Given the description of an element on the screen output the (x, y) to click on. 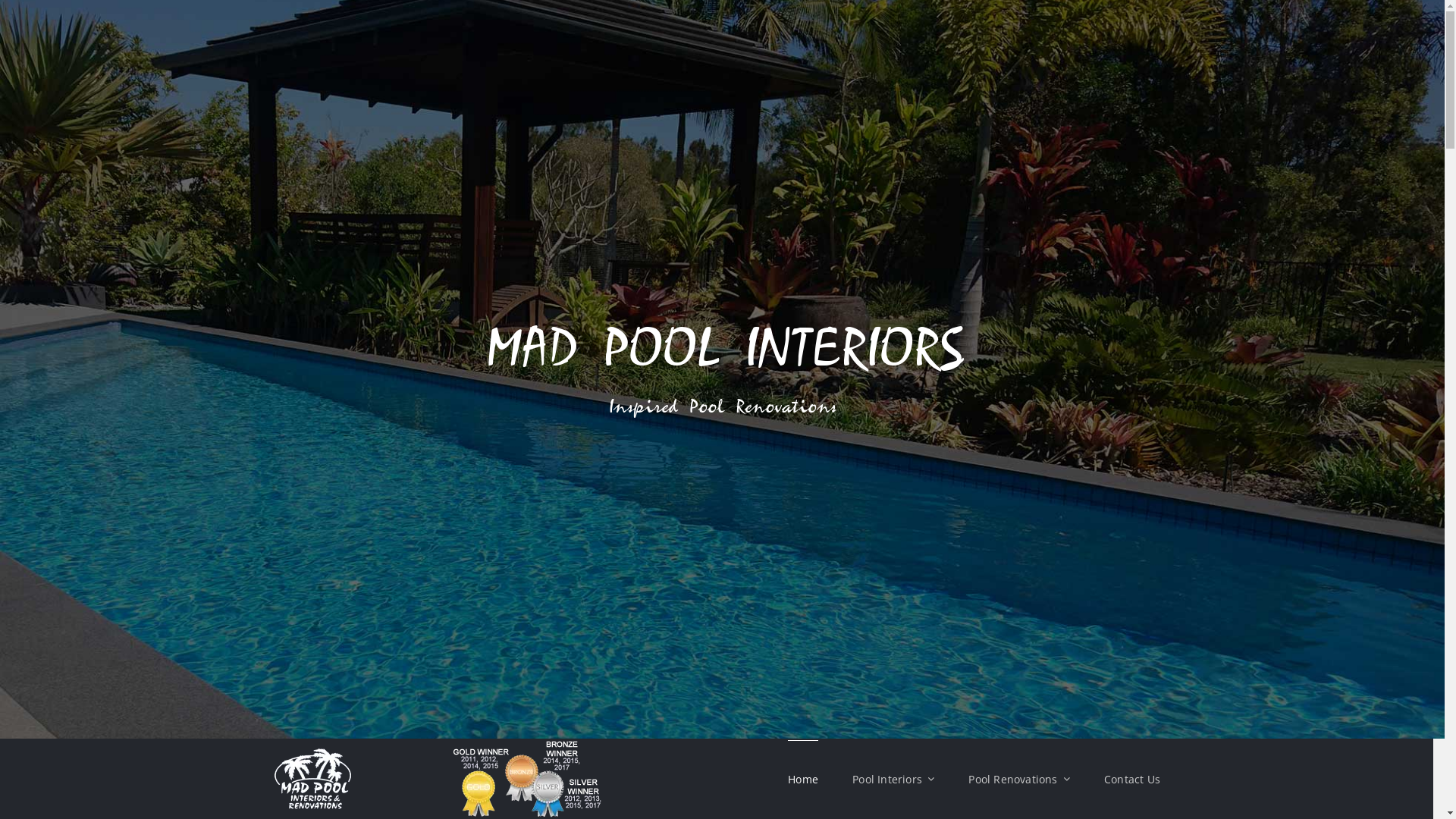
Pool Interiors Element type: text (893, 779)
Contact Us Element type: text (1132, 779)
Pool Renovations Element type: text (1019, 779)
Home Element type: text (802, 779)
Awards Element type: hover (526, 743)
